Given the description of an element on the screen output the (x, y) to click on. 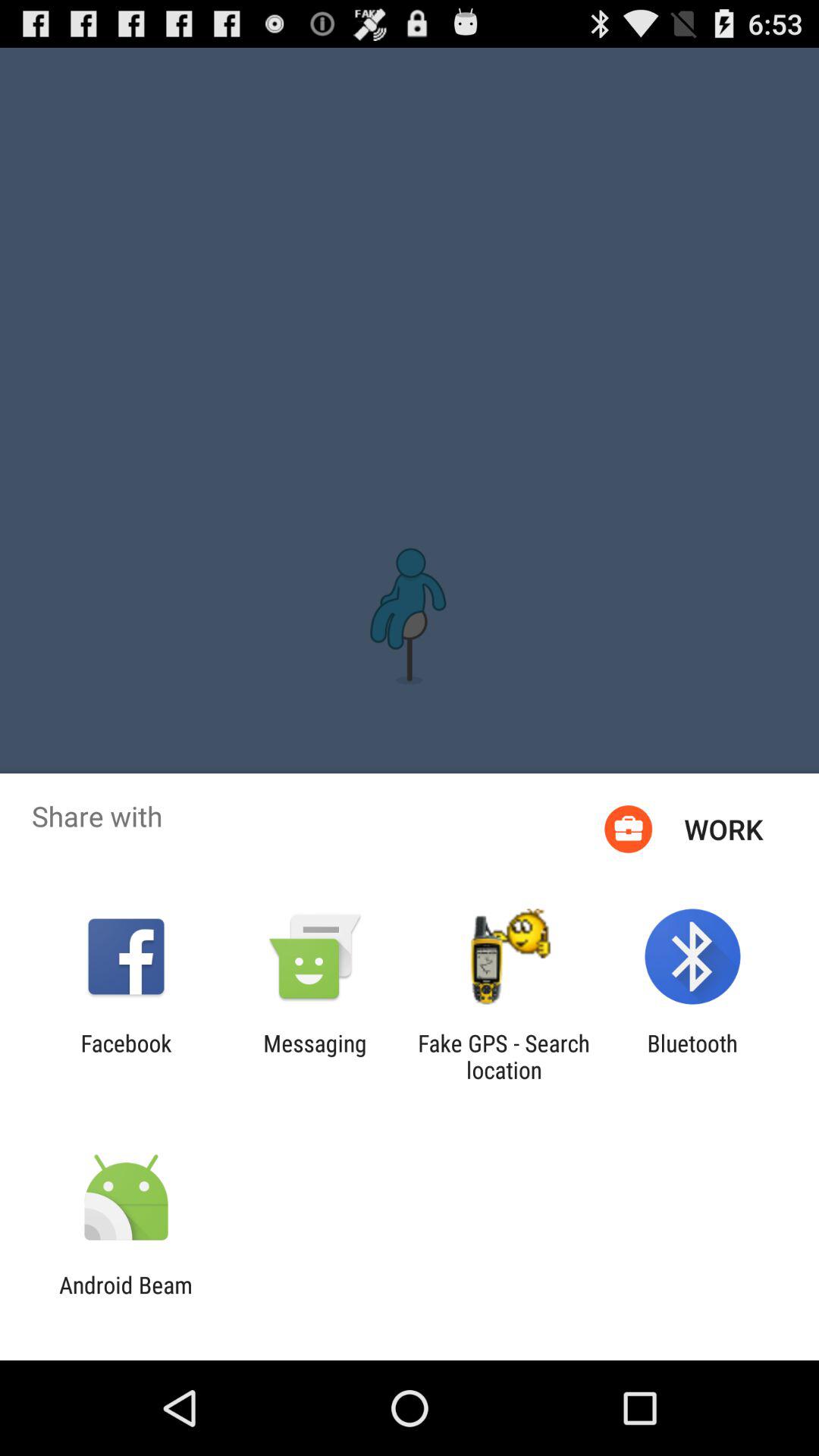
open the icon next to the messaging icon (503, 1056)
